Given the description of an element on the screen output the (x, y) to click on. 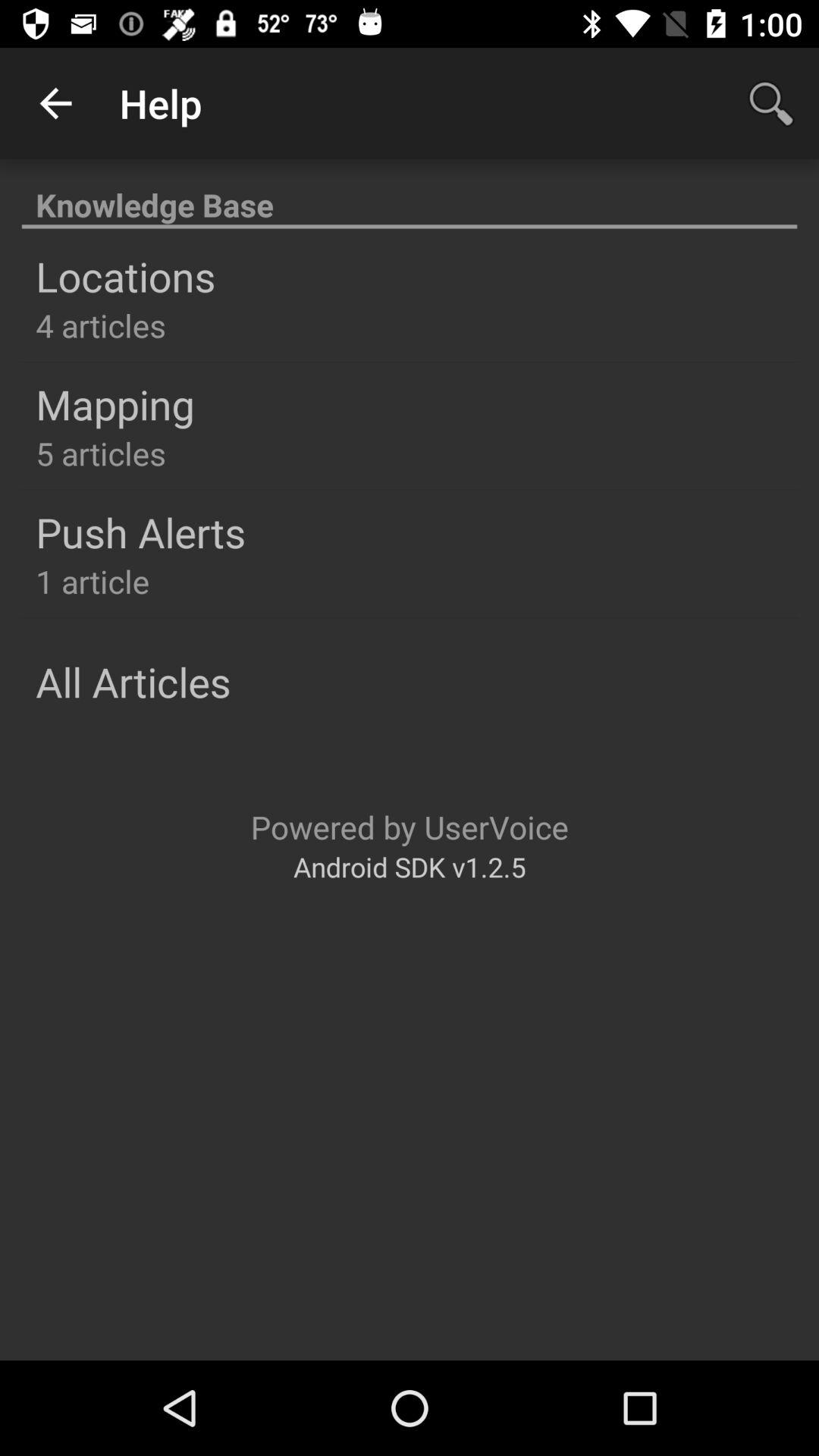
scroll until the all articles (132, 681)
